Given the description of an element on the screen output the (x, y) to click on. 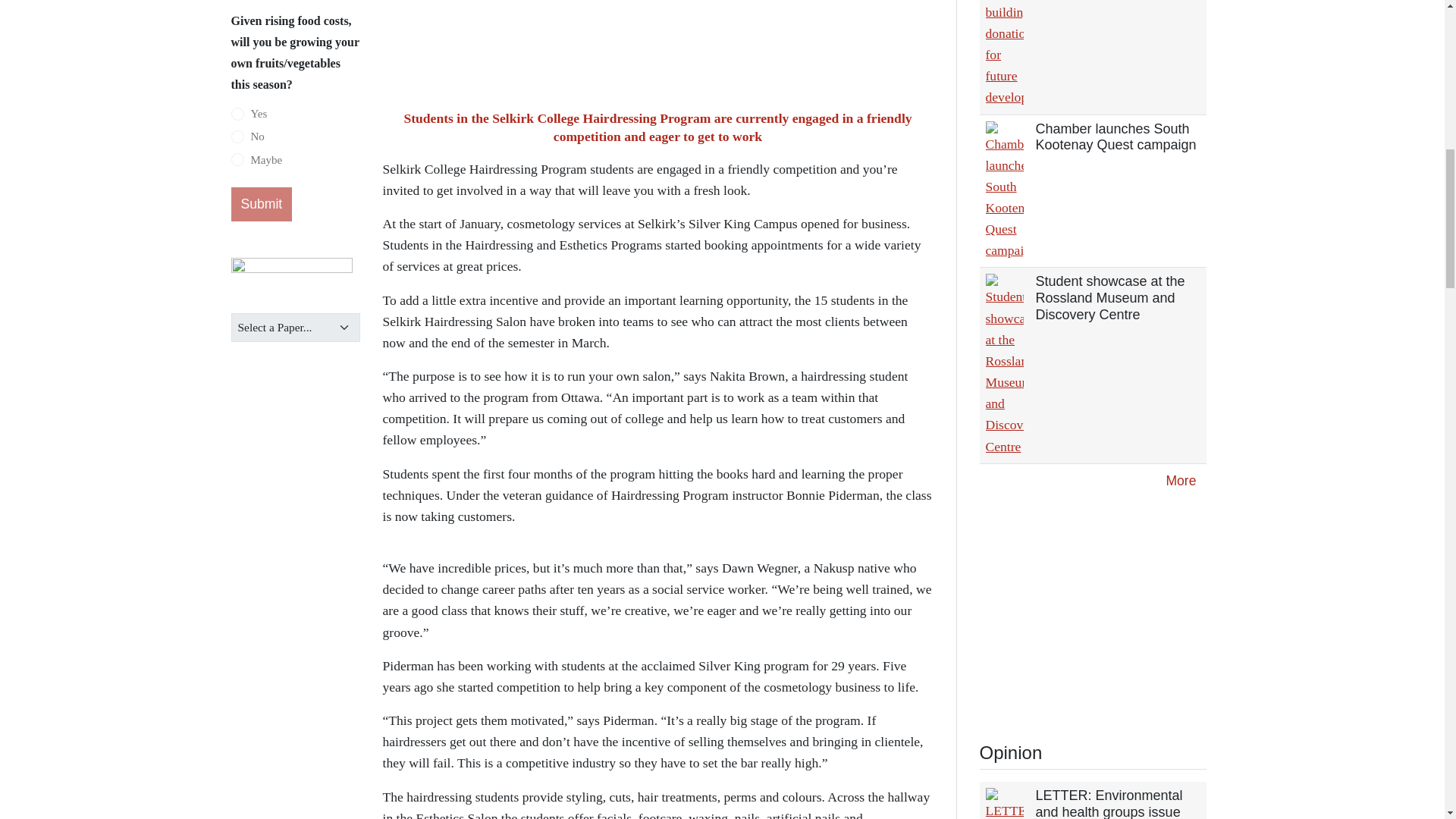
gpoll135bfdf59 (237, 137)
gpoll13b628ecd (237, 160)
Submit (261, 204)
Submit (261, 204)
Student showcase at the Rossland Museum and Discovery Centre (1110, 297)
gpoll1892df81e (237, 114)
More (1180, 481)
Chamber launches South Kootenay Quest campaign (1115, 137)
